Given the description of an element on the screen output the (x, y) to click on. 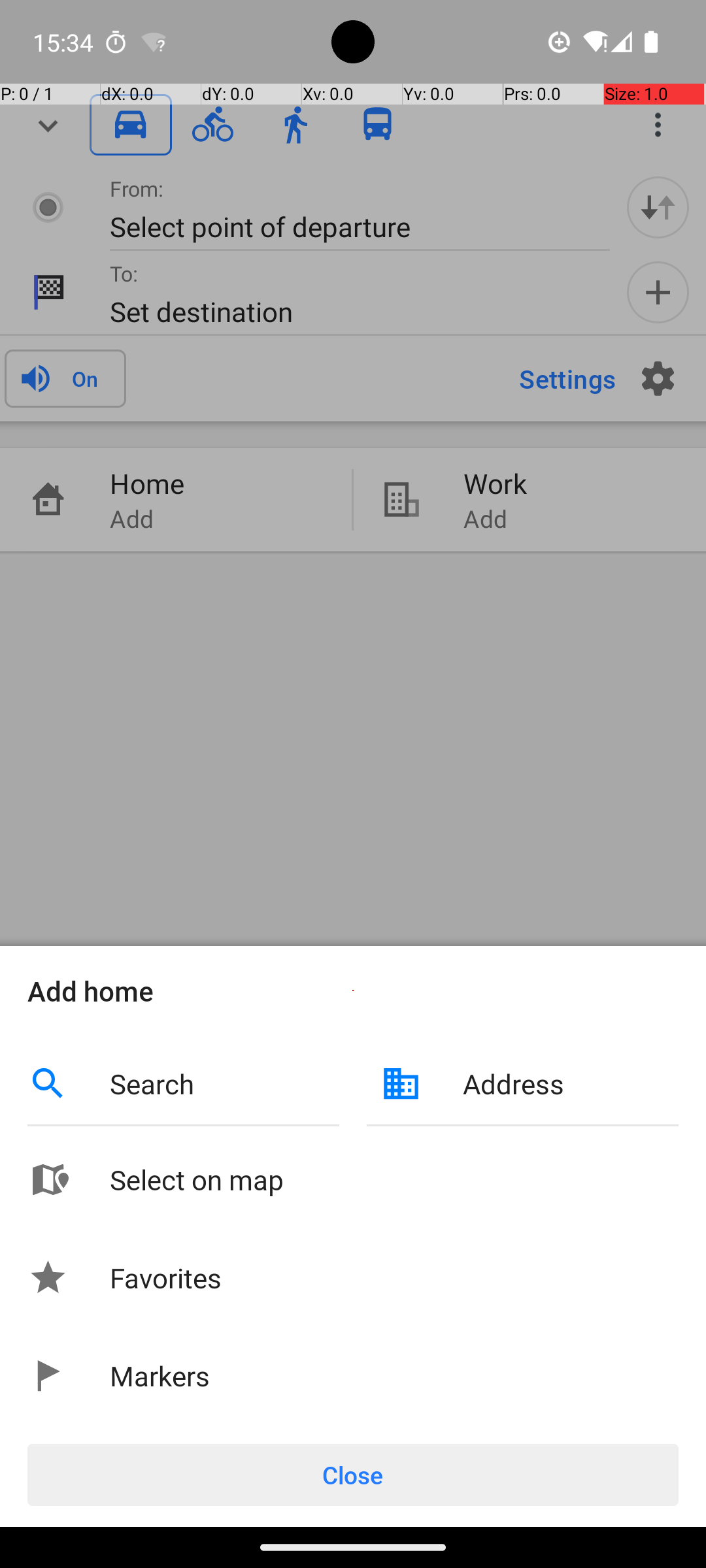
Add home Element type: android.widget.TextView (353, 990)
Select on map Element type: android.widget.TextView (393, 1179)
